Given the description of an element on the screen output the (x, y) to click on. 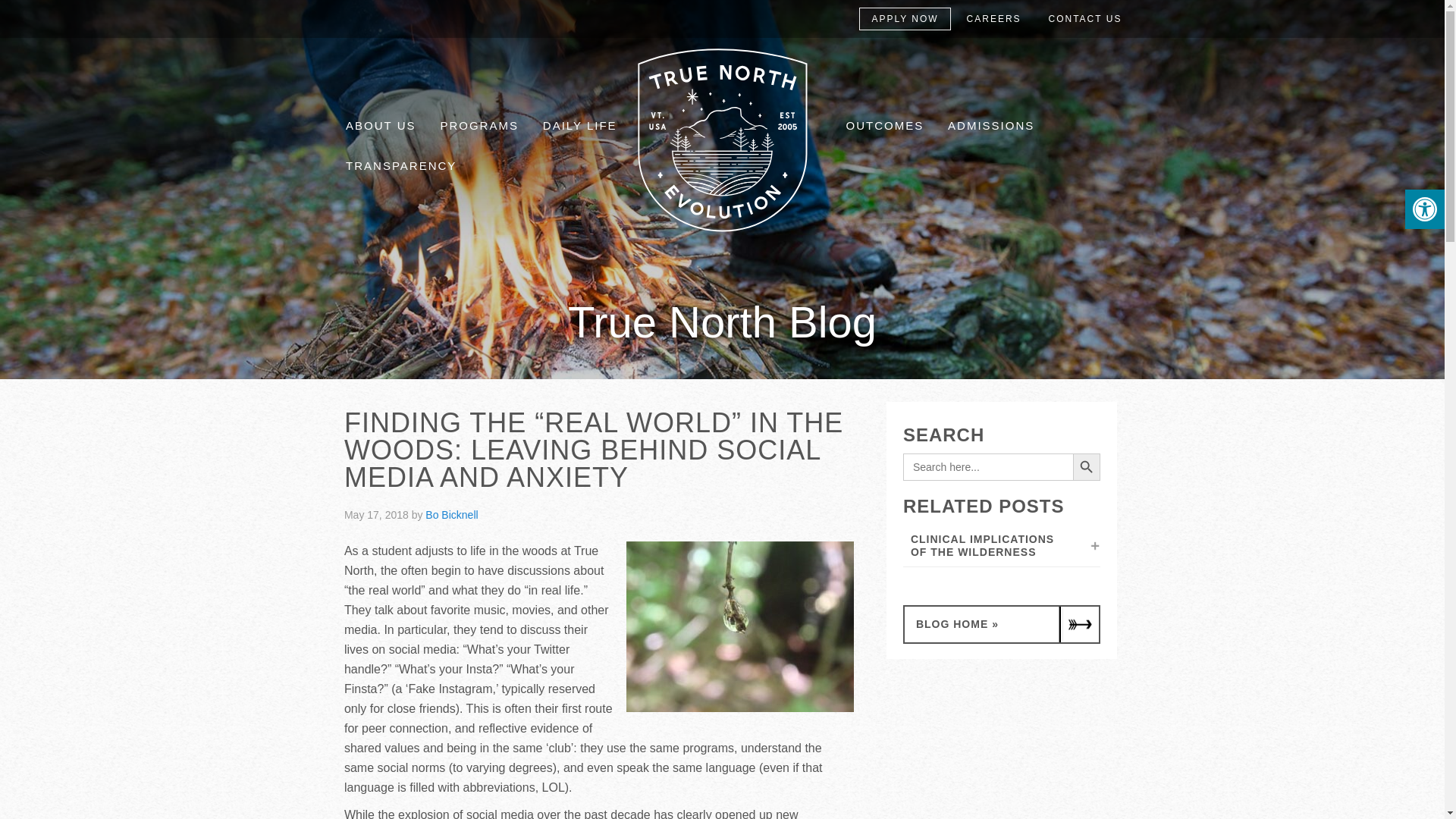
CAREERS (993, 18)
DAILY LIFE (579, 125)
Posts by Bo Bicknell (451, 514)
CONTACT US (1085, 18)
APPLY NOW (904, 18)
OUTCOMES (884, 125)
ADMISSIONS (990, 125)
ABOUT US (380, 125)
True North Evolution (722, 231)
True North Evolution (722, 139)
PROGRAMS (478, 125)
Accessibility Tools (1424, 209)
